Given the description of an element on the screen output the (x, y) to click on. 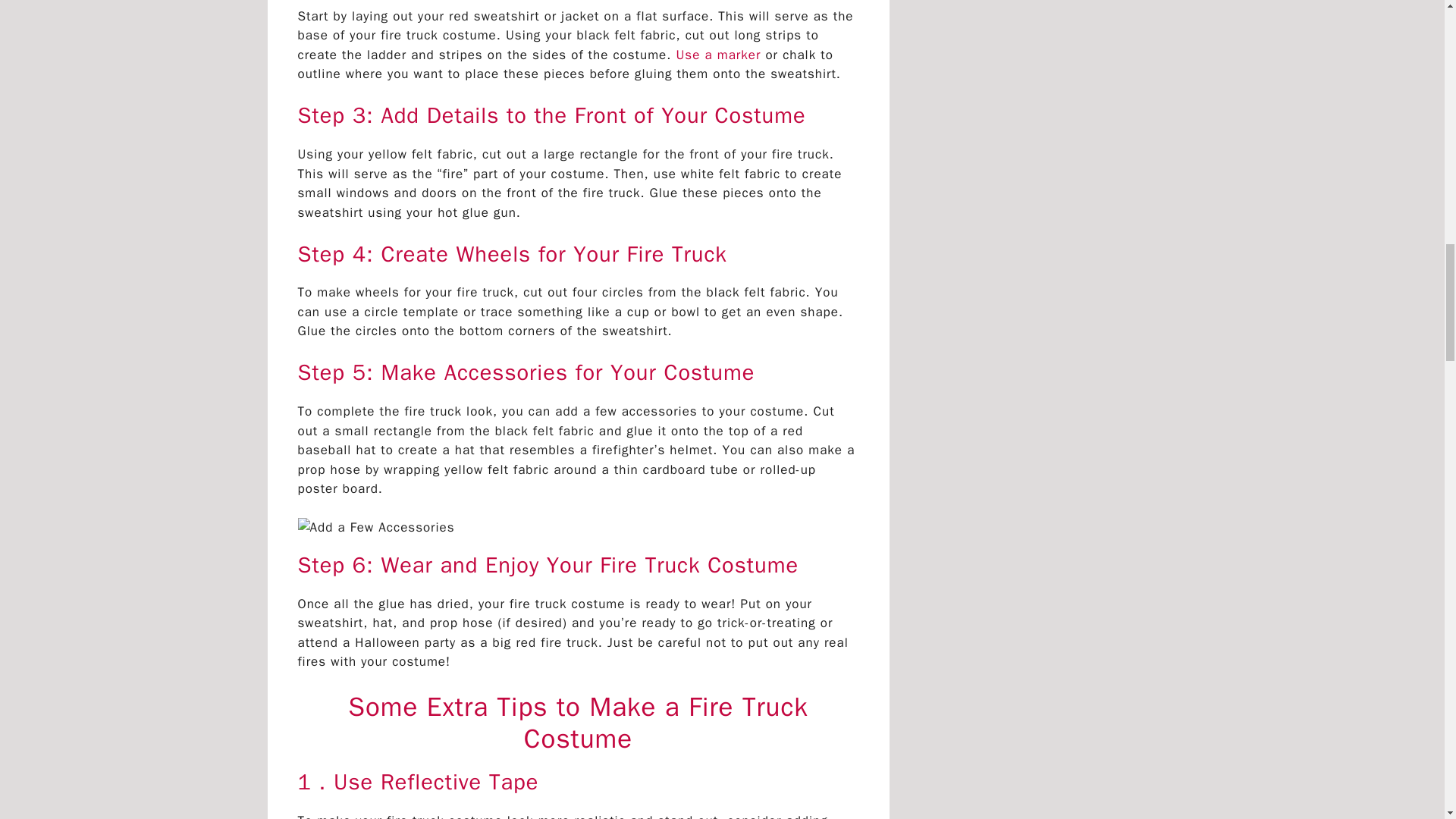
Use a marker (715, 54)
